Given the description of an element on the screen output the (x, y) to click on. 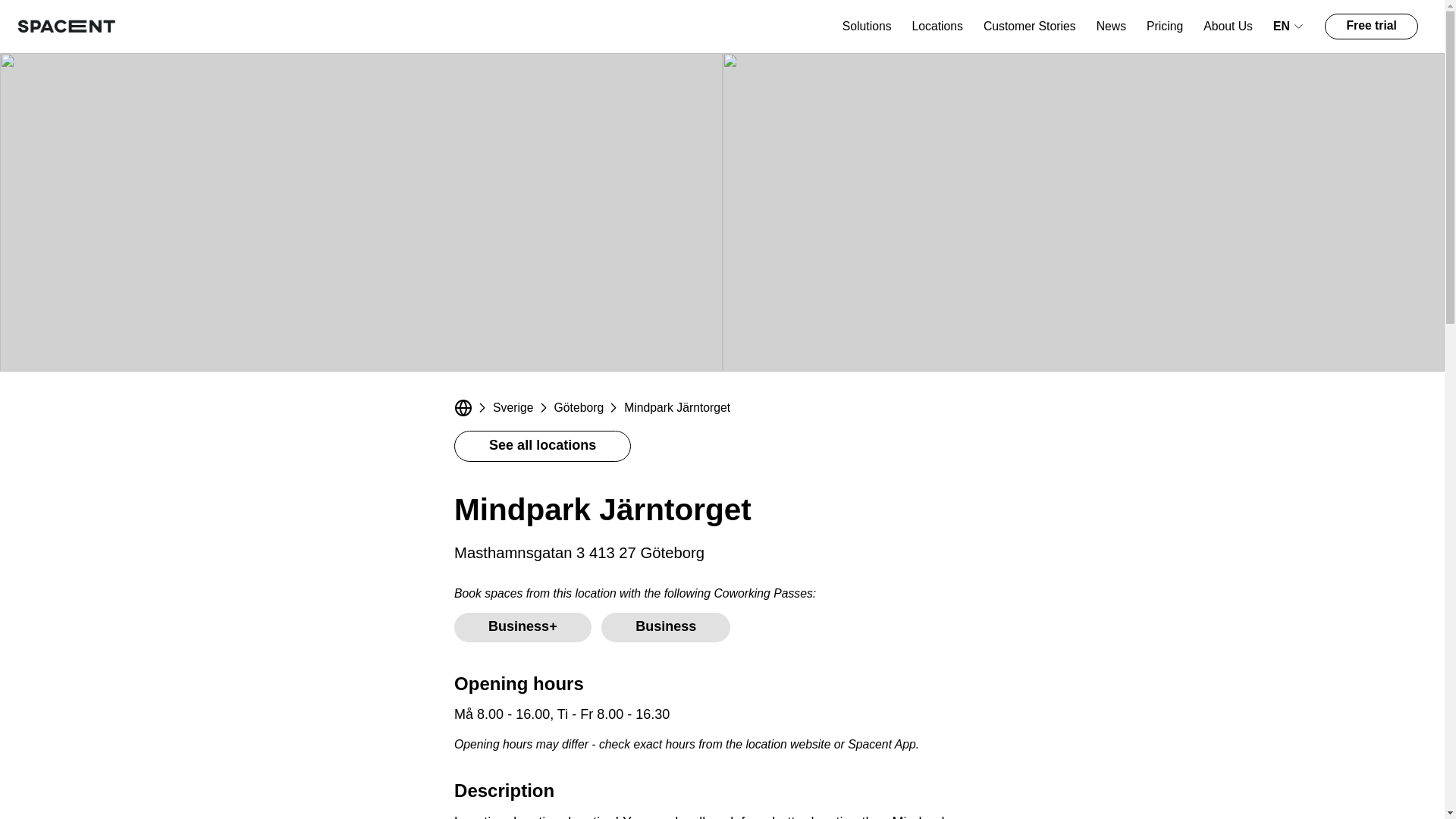
Solutions (867, 25)
All countries (462, 407)
Free trial (1371, 26)
News (1110, 25)
Business (665, 627)
Pricing (1164, 25)
See all locations (542, 445)
Customer Stories (1029, 25)
Sverige (512, 407)
About Us (1228, 25)
